Given the description of an element on the screen output the (x, y) to click on. 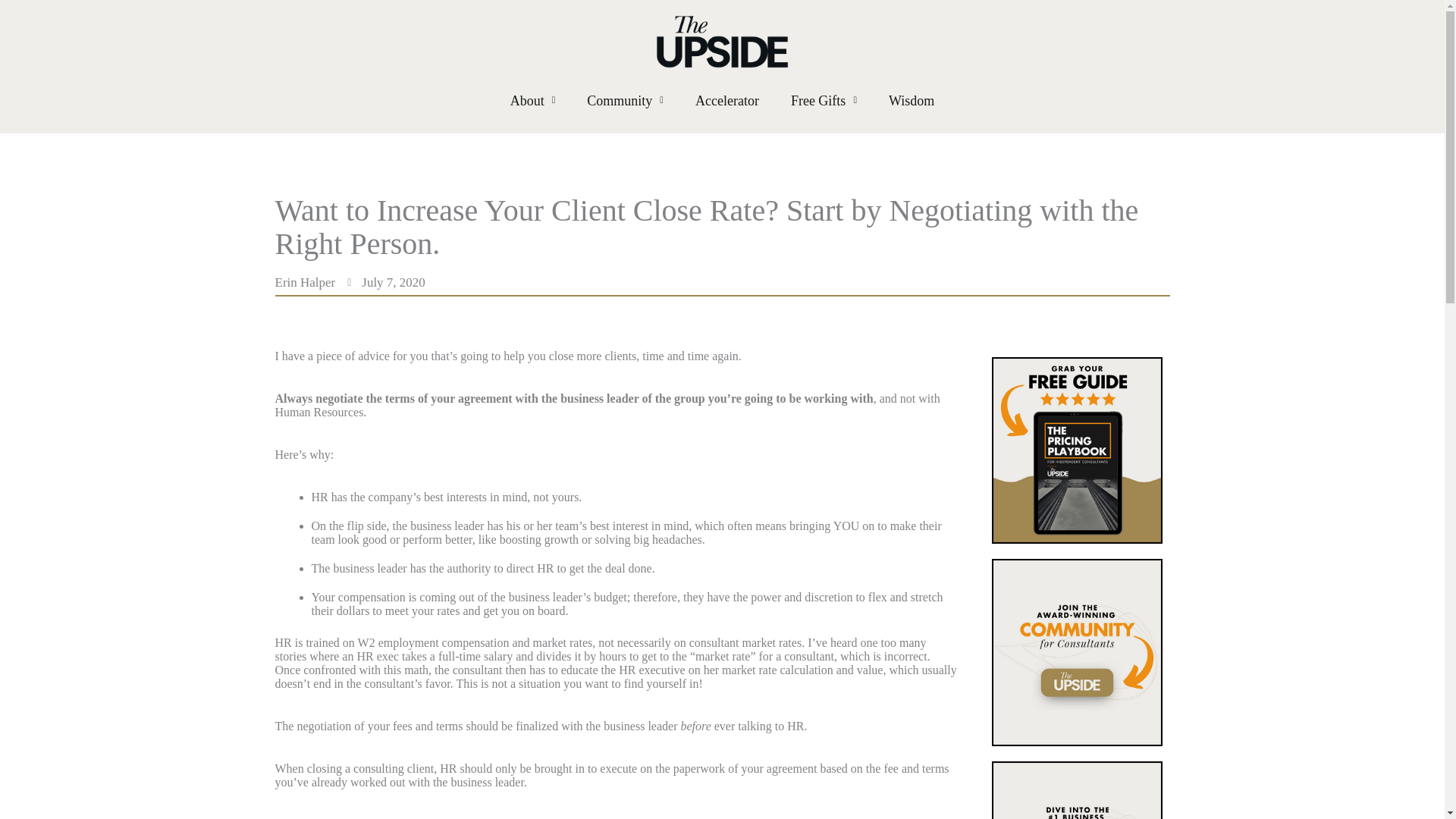
Accelerator (726, 100)
Community (624, 100)
About (532, 100)
Free Gifts (823, 100)
Wisdom (911, 100)
